Given the description of an element on the screen output the (x, y) to click on. 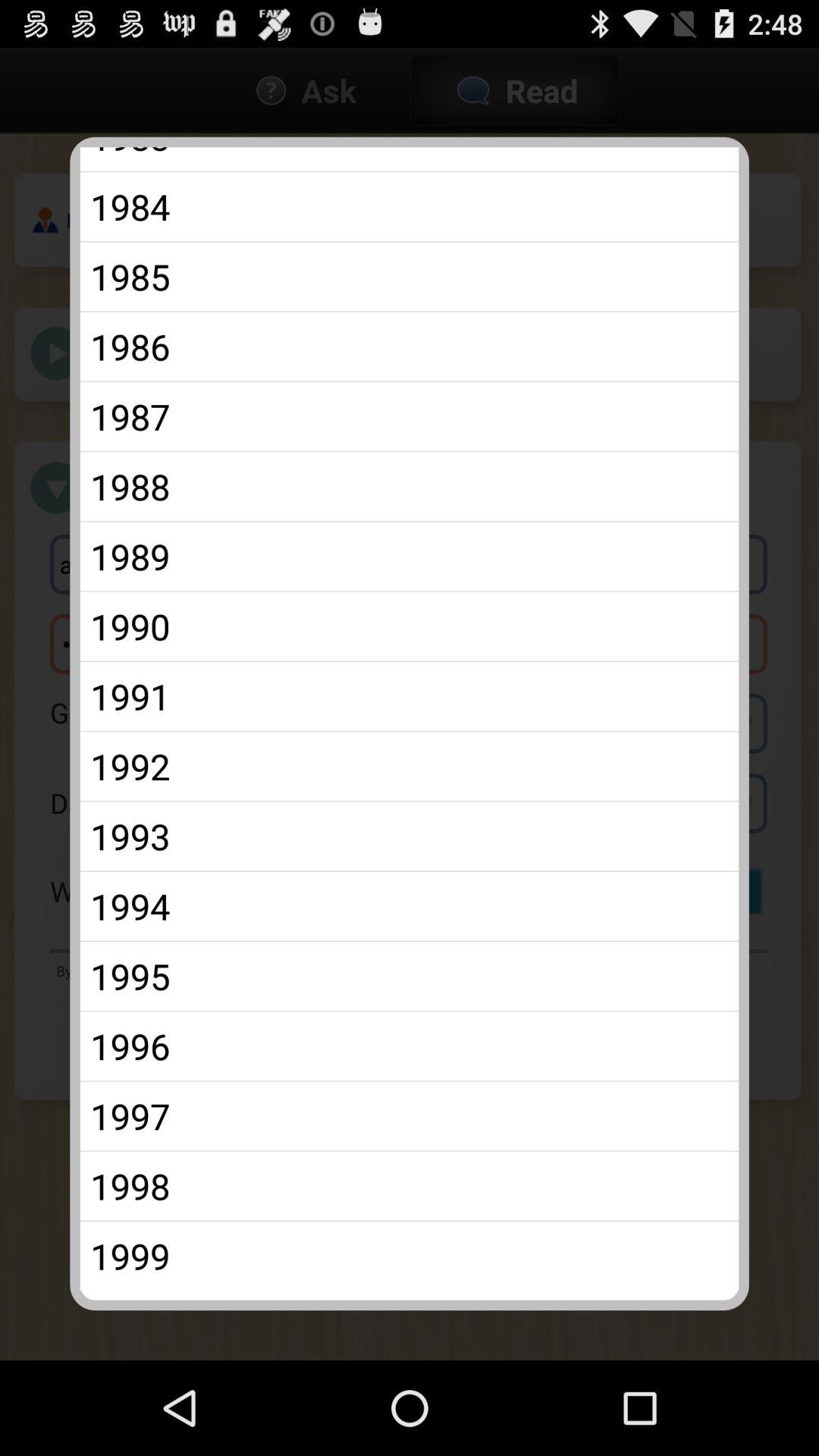
launch the item above the 1992 item (409, 696)
